Given the description of an element on the screen output the (x, y) to click on. 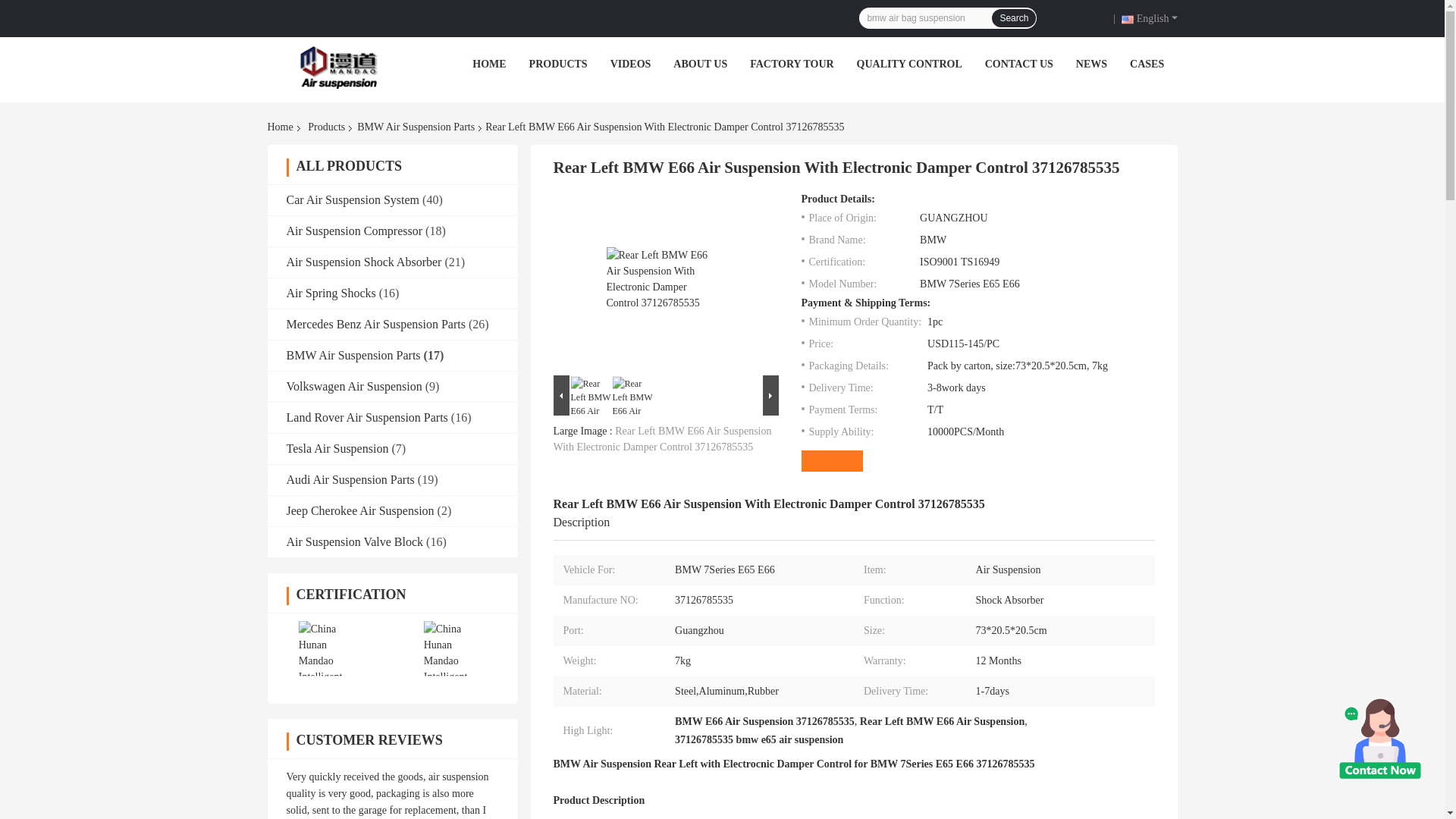
Chat Now (1085, 17)
BMW Air Suspension Parts (415, 127)
Search (1013, 18)
Air Suspension Shock Absorber (364, 261)
CONTACT US (1018, 63)
Air Suspension Compressor (354, 230)
Home (282, 127)
Products (325, 127)
ABOUT US (699, 63)
PRODUCTS (558, 63)
